Given the description of an element on the screen output the (x, y) to click on. 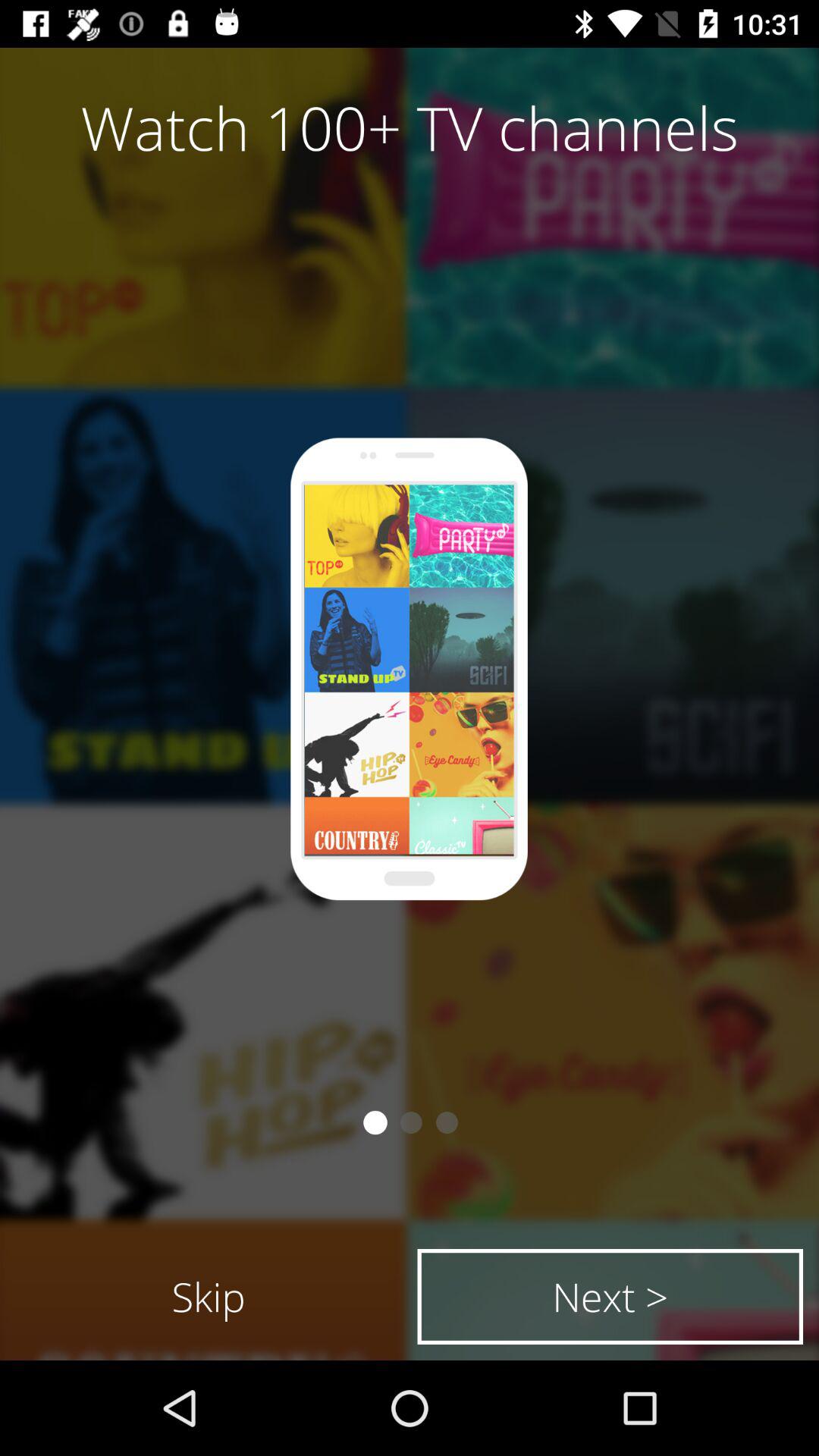
choose icon to the right of the skip item (610, 1296)
